Given the description of an element on the screen output the (x, y) to click on. 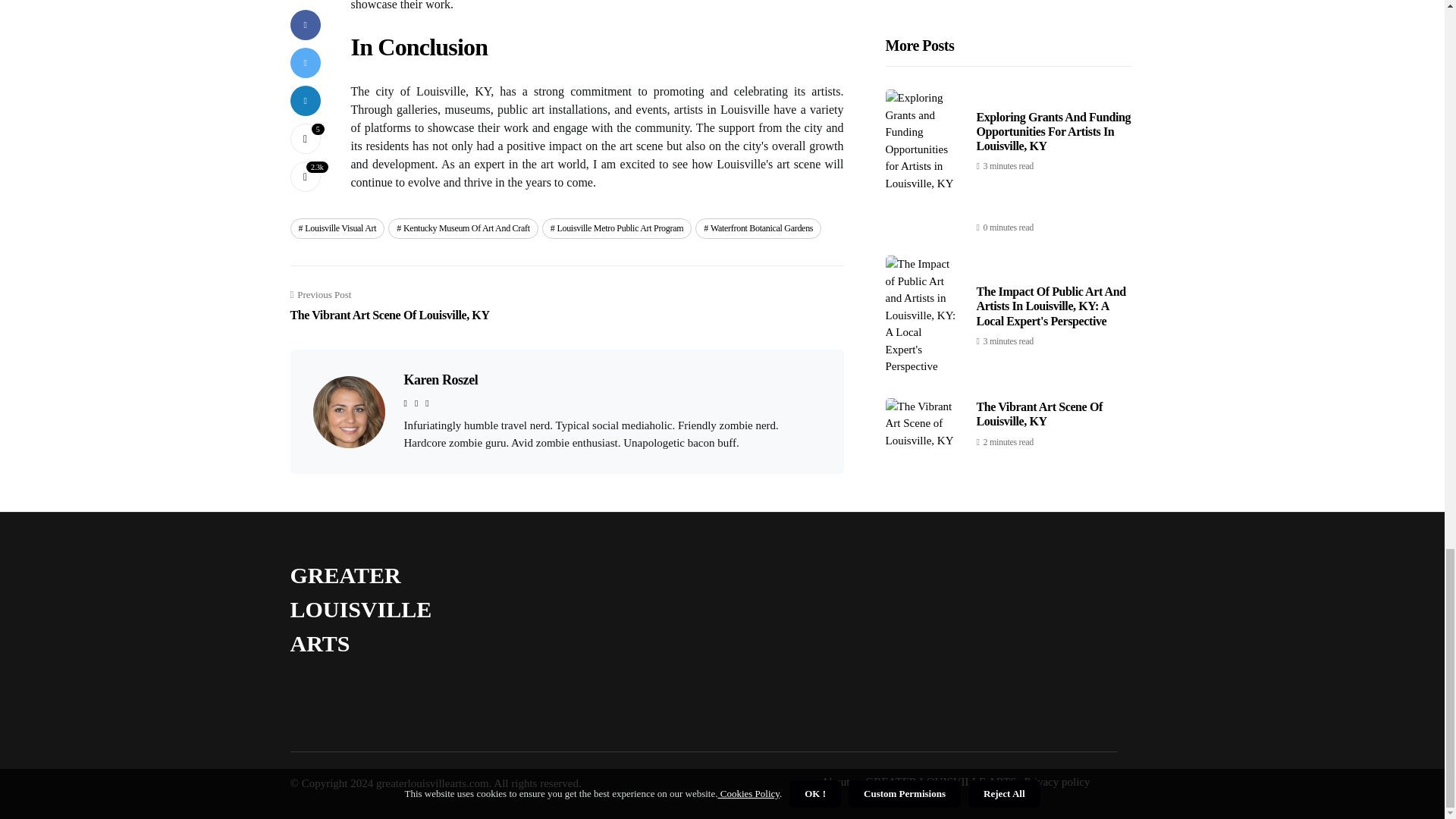
Waterfront Botanical Gardens (758, 228)
Louisville Visual Art (389, 306)
Karen Roszel (336, 228)
Louisville Metro Public Art Program (440, 379)
Kentucky Museum Of Art And Craft (617, 228)
